Given the description of an element on the screen output the (x, y) to click on. 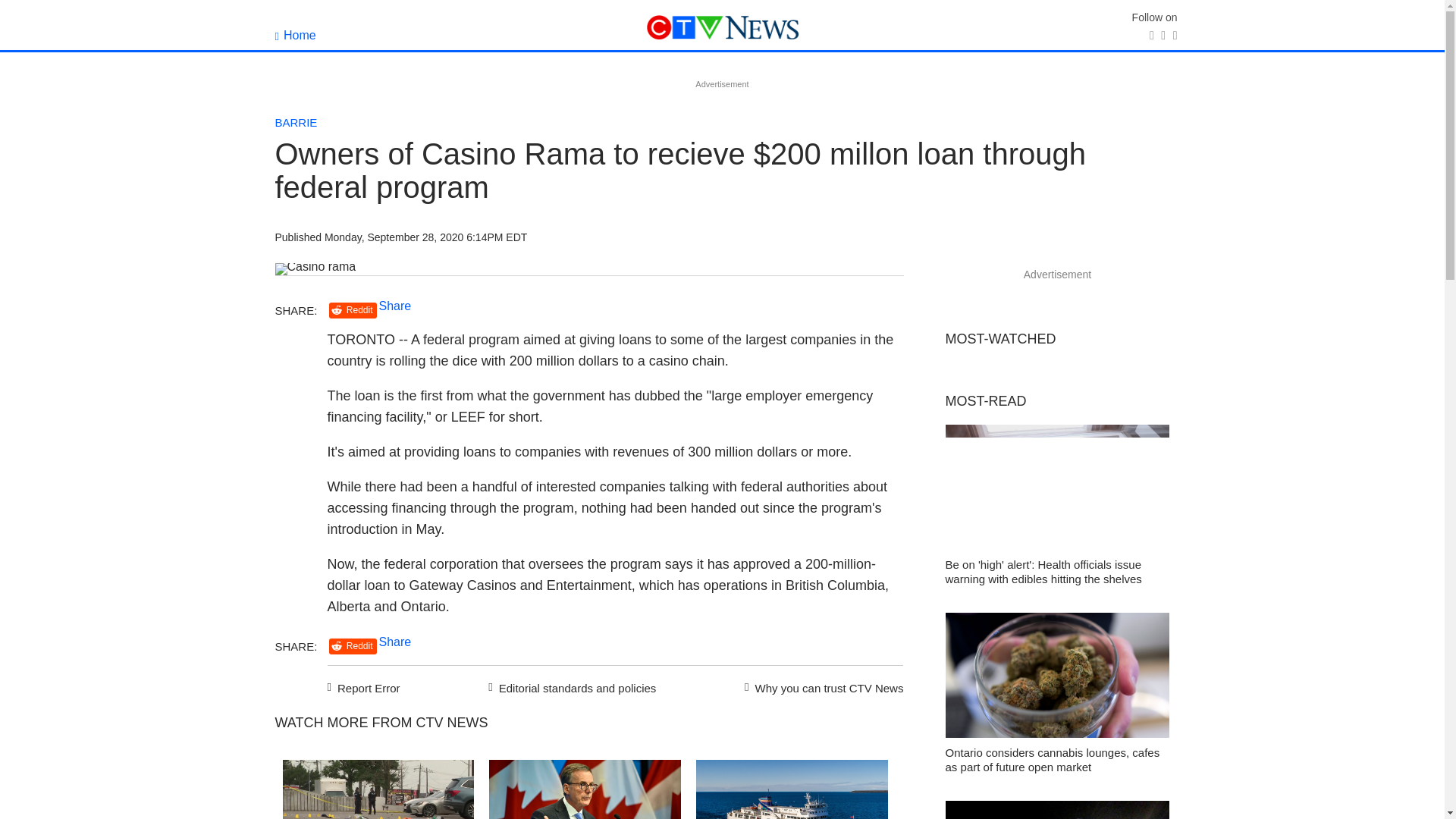
Share (395, 305)
Reddit (353, 310)
Home (295, 34)
BARRIE (296, 122)
Casino rama (315, 268)
Editorial standards and policies (569, 685)
false (791, 789)
Report Error (363, 685)
Governor of the Bank of Canada Tiff Macklem speaks (585, 789)
Chi-Cheemaun  (791, 789)
Scarborough shooting (378, 789)
Why you can trust CTV News (820, 685)
Reddit (353, 646)
false (585, 789)
Share (395, 641)
